Given the description of an element on the screen output the (x, y) to click on. 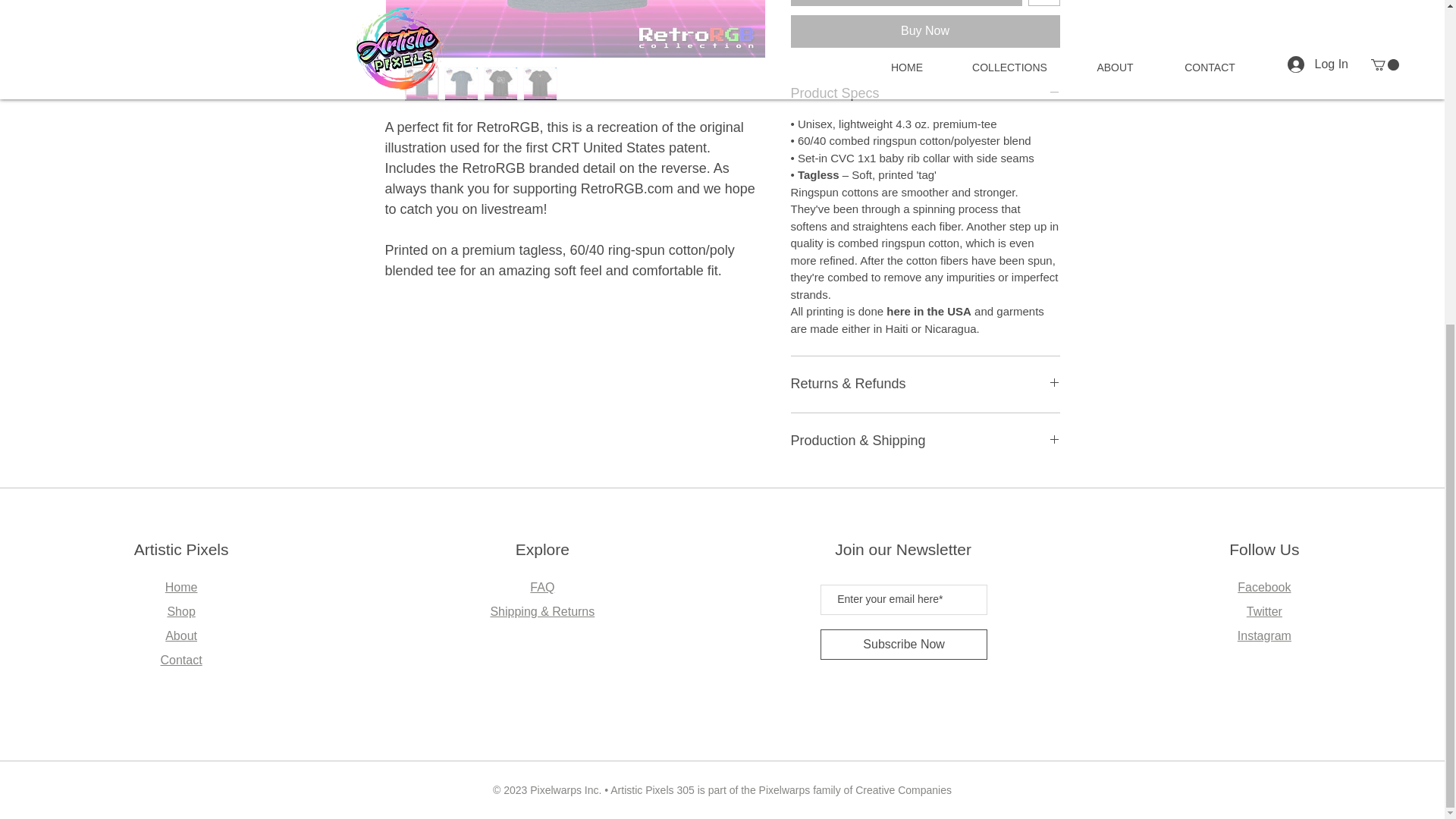
Subscribe Now (904, 644)
Contact (181, 659)
Product Specs (924, 93)
Instagram (1264, 635)
Twitter (1264, 611)
FAQ (541, 586)
Add To Cart (906, 2)
Home (181, 586)
Buy Now (924, 30)
Shop (181, 611)
Facebook (1263, 586)
About (180, 635)
